Given the description of an element on the screen output the (x, y) to click on. 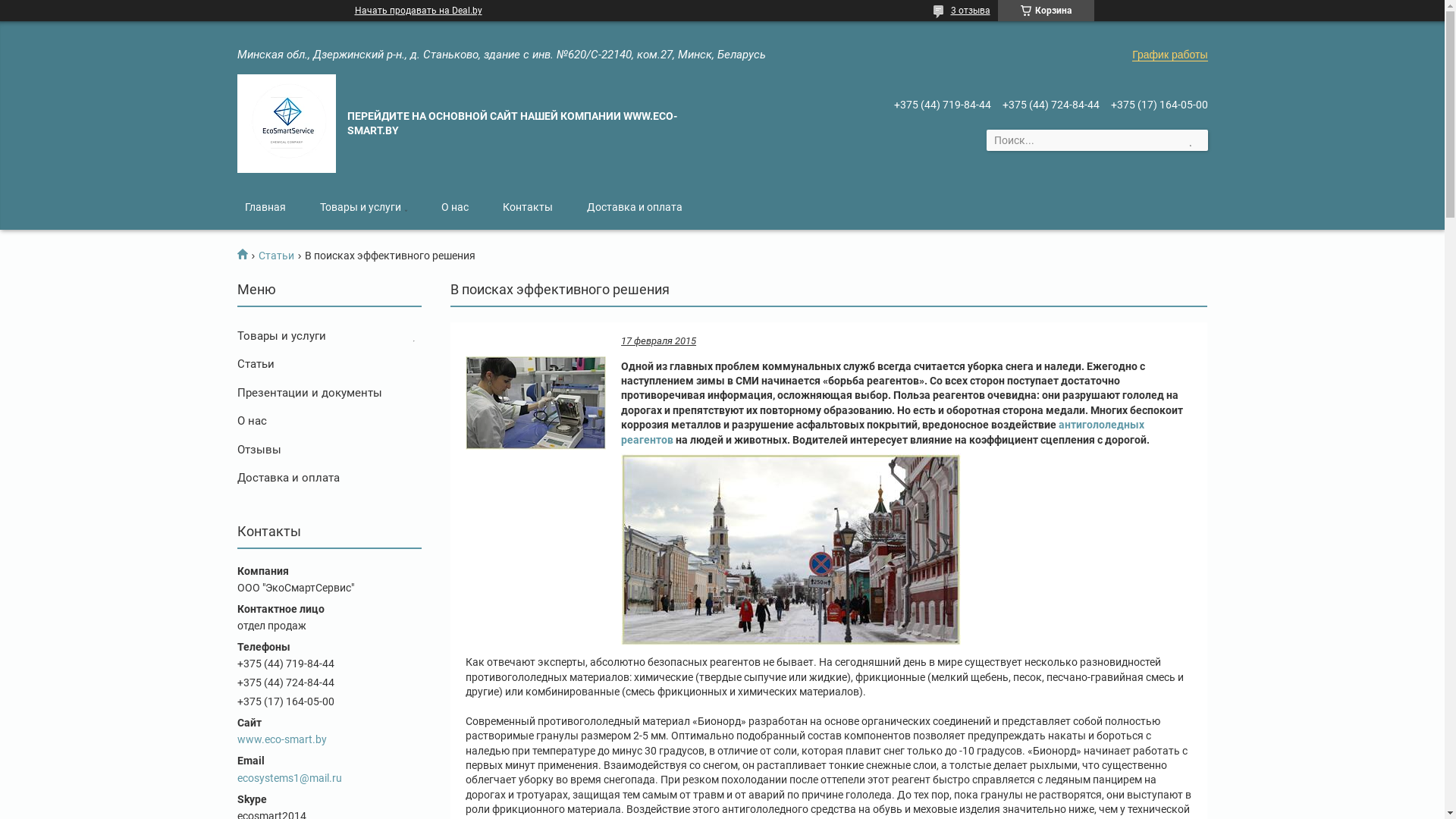
ecosystems1@mail.ru Element type: text (328, 768)
www.eco-smart.by Element type: text (328, 730)
